Given the description of an element on the screen output the (x, y) to click on. 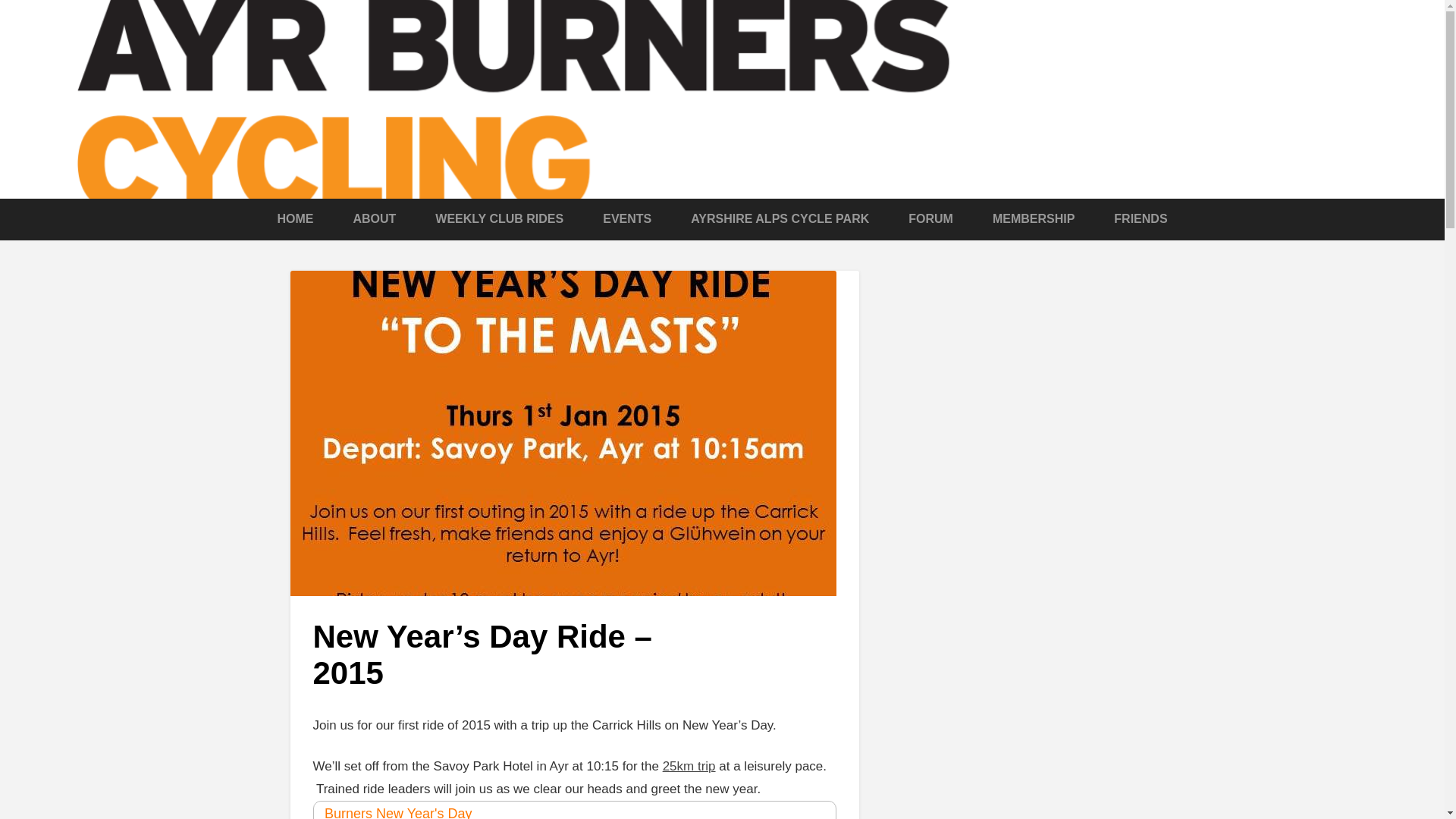
WEEKLY CLUB RIDES (499, 218)
FRIENDS (1140, 218)
AYRSHIRE ALPS CYCLE PARK (779, 218)
EVENTS (626, 218)
25km trip (689, 766)
MEMBERSHIP (1033, 218)
HOME (294, 218)
FORUM (930, 218)
ABOUT (374, 218)
